Given the description of an element on the screen output the (x, y) to click on. 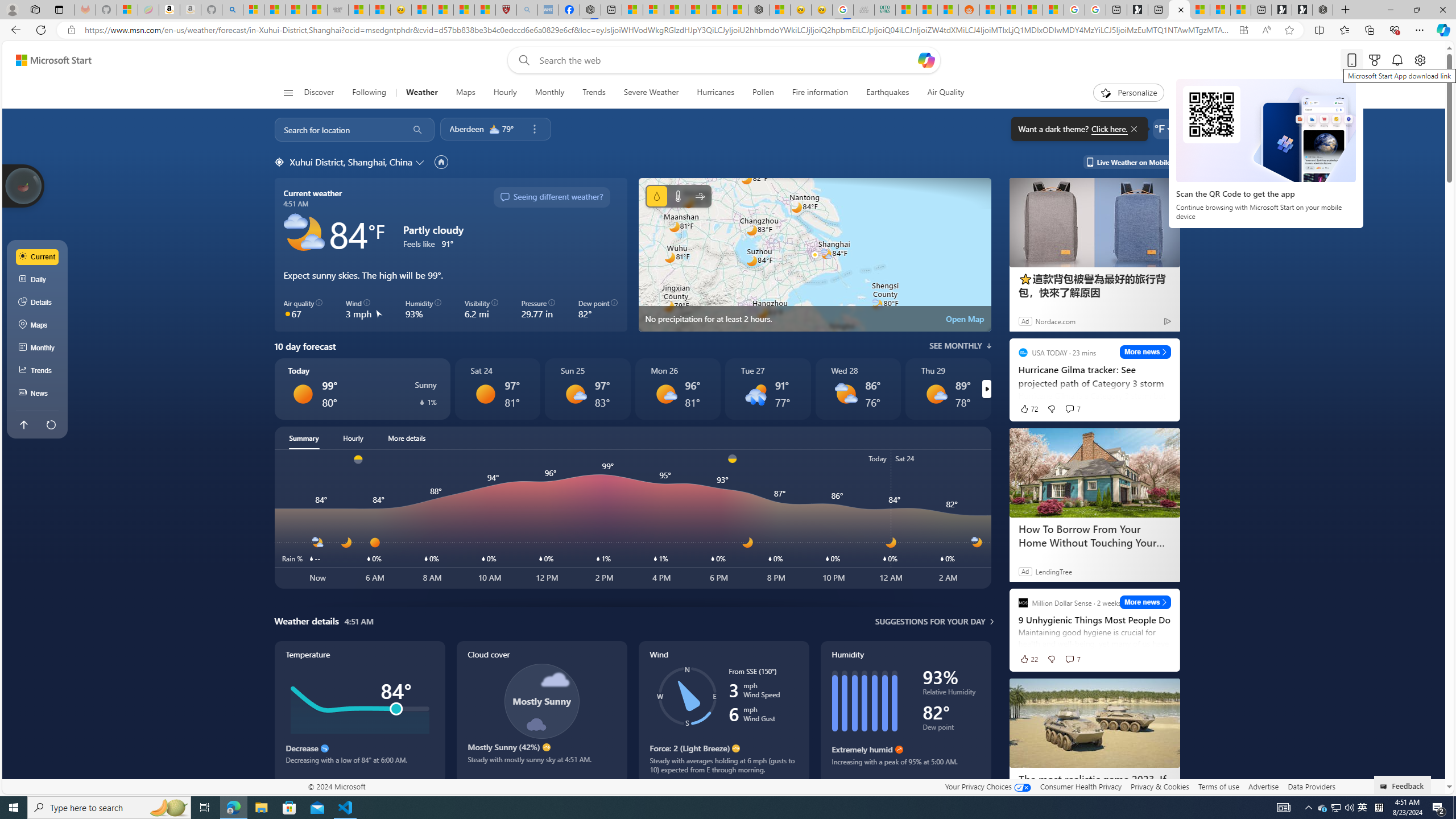
Sunny (484, 393)
Xuhui District, Shanghai, China (350, 161)
